Given the description of an element on the screen output the (x, y) to click on. 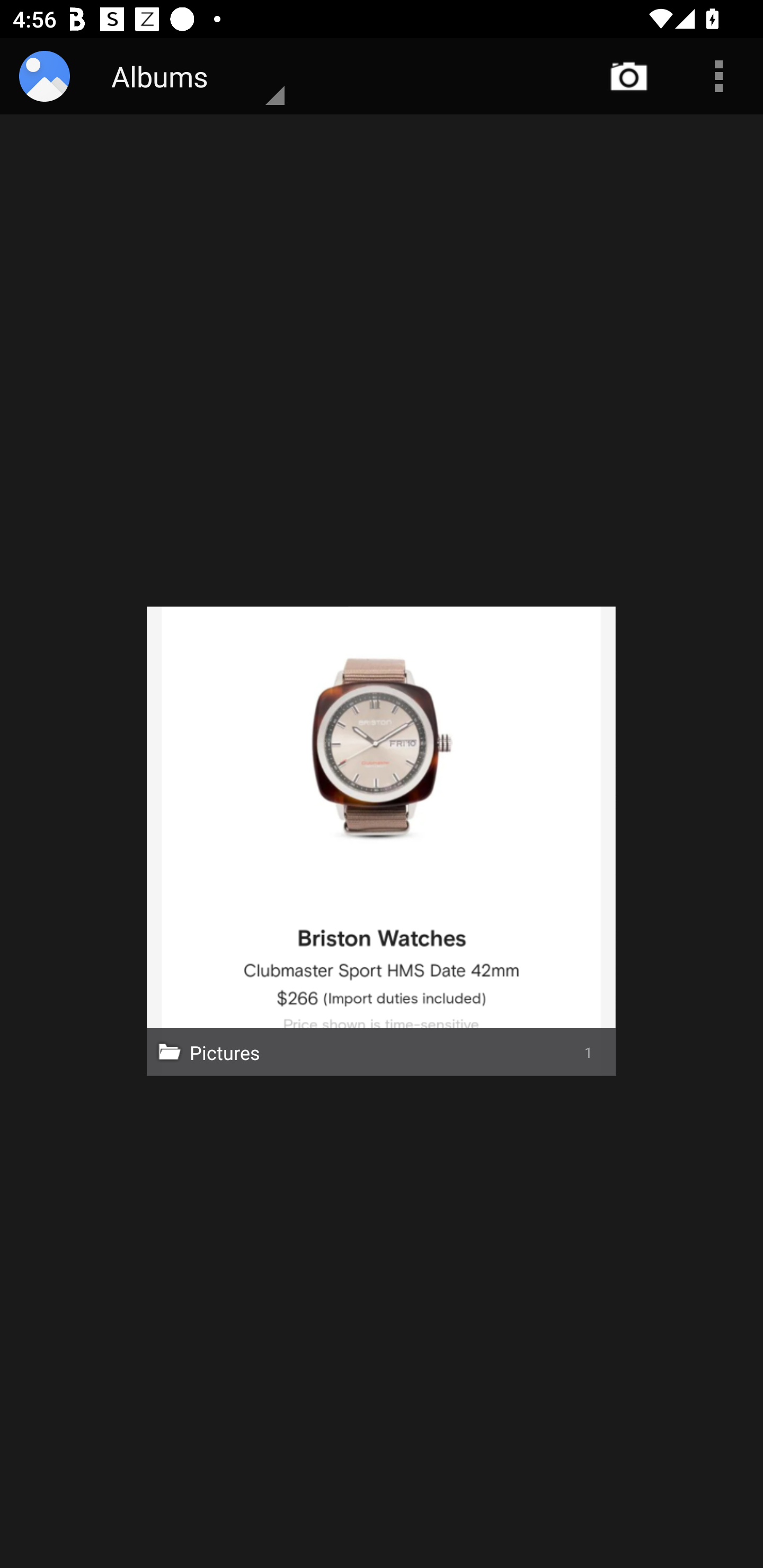
Albums (183, 75)
Switch to Camera (629, 75)
More options (718, 75)
